Given the description of an element on the screen output the (x, y) to click on. 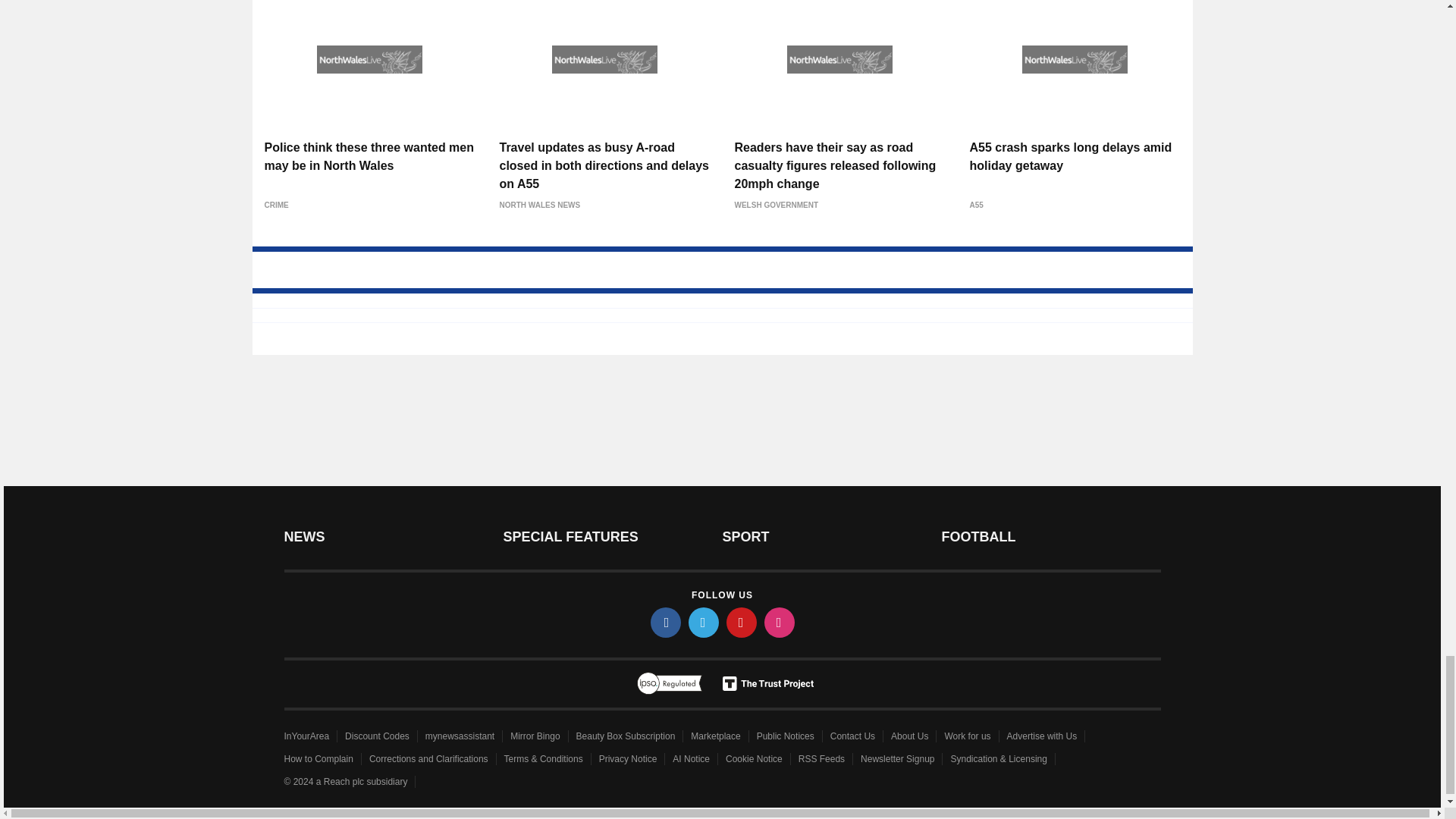
pinterest (741, 622)
instagram (779, 622)
facebook (665, 622)
twitter (703, 622)
